Given the description of an element on the screen output the (x, y) to click on. 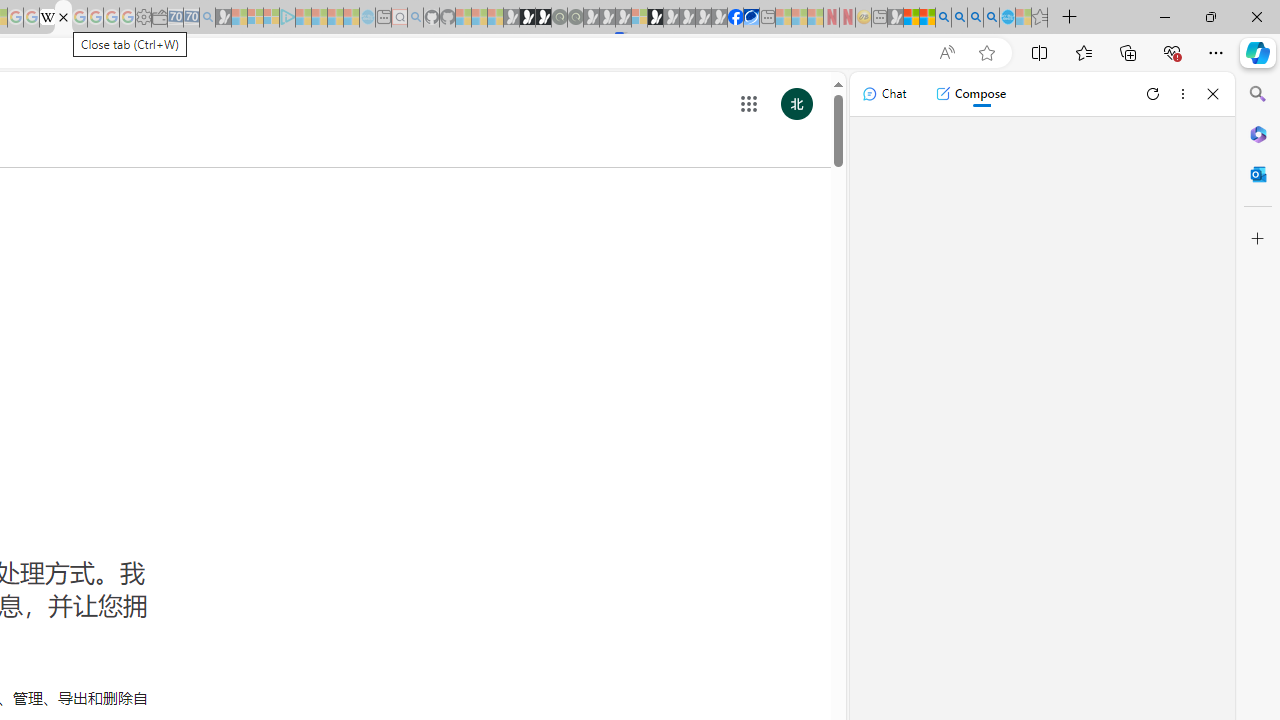
Home | Sky Blue Bikes - Sky Blue Bikes - Sleeping (367, 17)
MSN - Sleeping (895, 17)
Settings - Sleeping (143, 17)
